Given the description of an element on the screen output the (x, y) to click on. 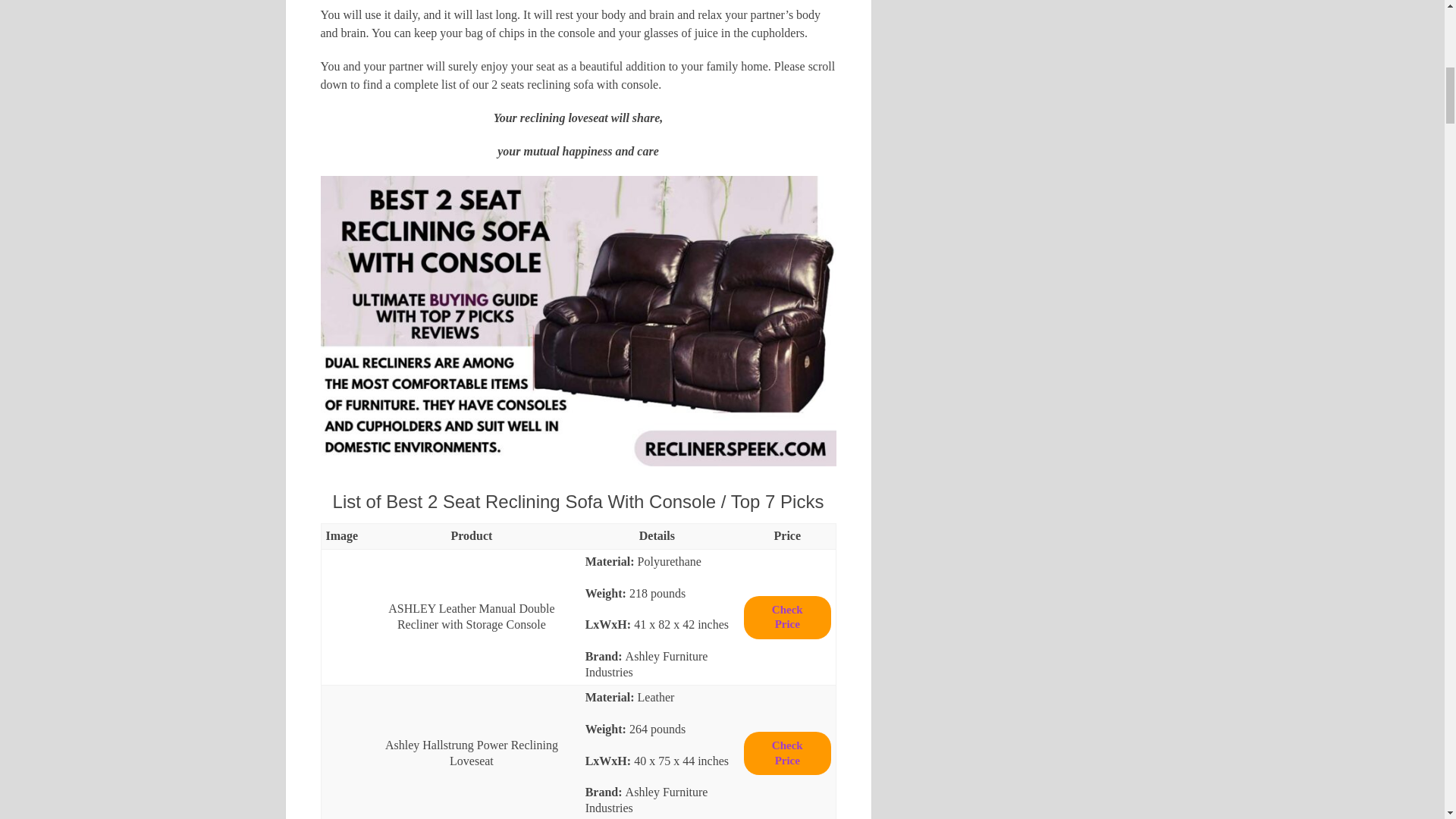
Check Price (786, 753)
backpac (342, 752)
Check Price (786, 617)
backpac (342, 617)
